Given the description of an element on the screen output the (x, y) to click on. 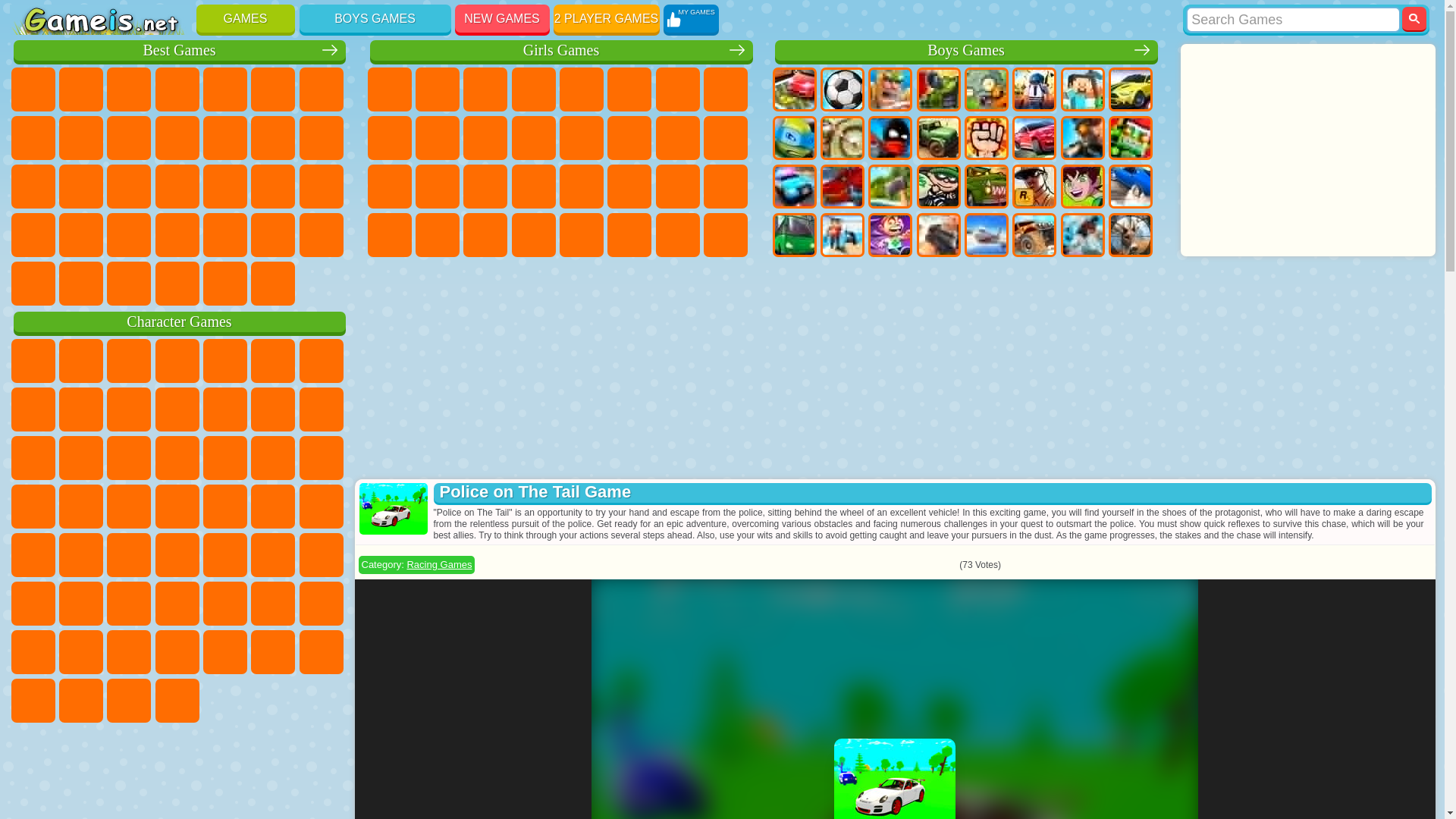
BOYS GAMES (373, 18)
Bus (793, 234)
Survival Games (889, 186)
Football Games (842, 89)
Hunting (1130, 234)
Zombie (986, 89)
Strategy Games (889, 89)
Football (842, 89)
Tank (938, 89)
Battle Royale Games (1034, 89)
Fighting Games (986, 137)
Minecraft Games (1083, 89)
GTA (1034, 186)
Fighting (986, 137)
Running (889, 234)
